Given the description of an element on the screen output the (x, y) to click on. 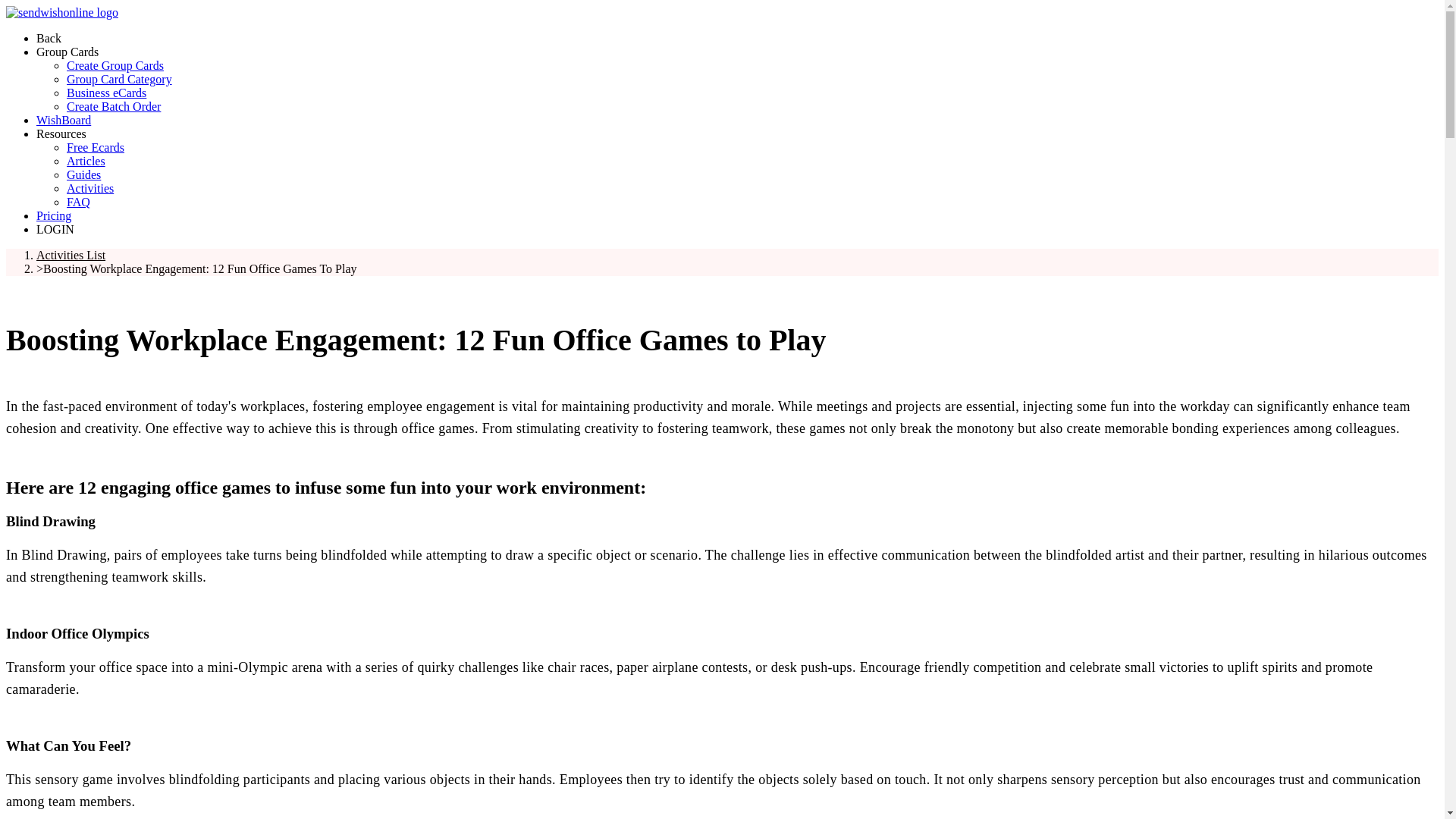
Pricing (53, 215)
FAQ (78, 201)
Guides (83, 174)
Business eCards (106, 92)
LOGIN (55, 228)
Free Ecards (94, 146)
Articles (85, 160)
WishBoard (63, 119)
Create Group Cards (114, 65)
Activities List (70, 254)
